Given the description of an element on the screen output the (x, y) to click on. 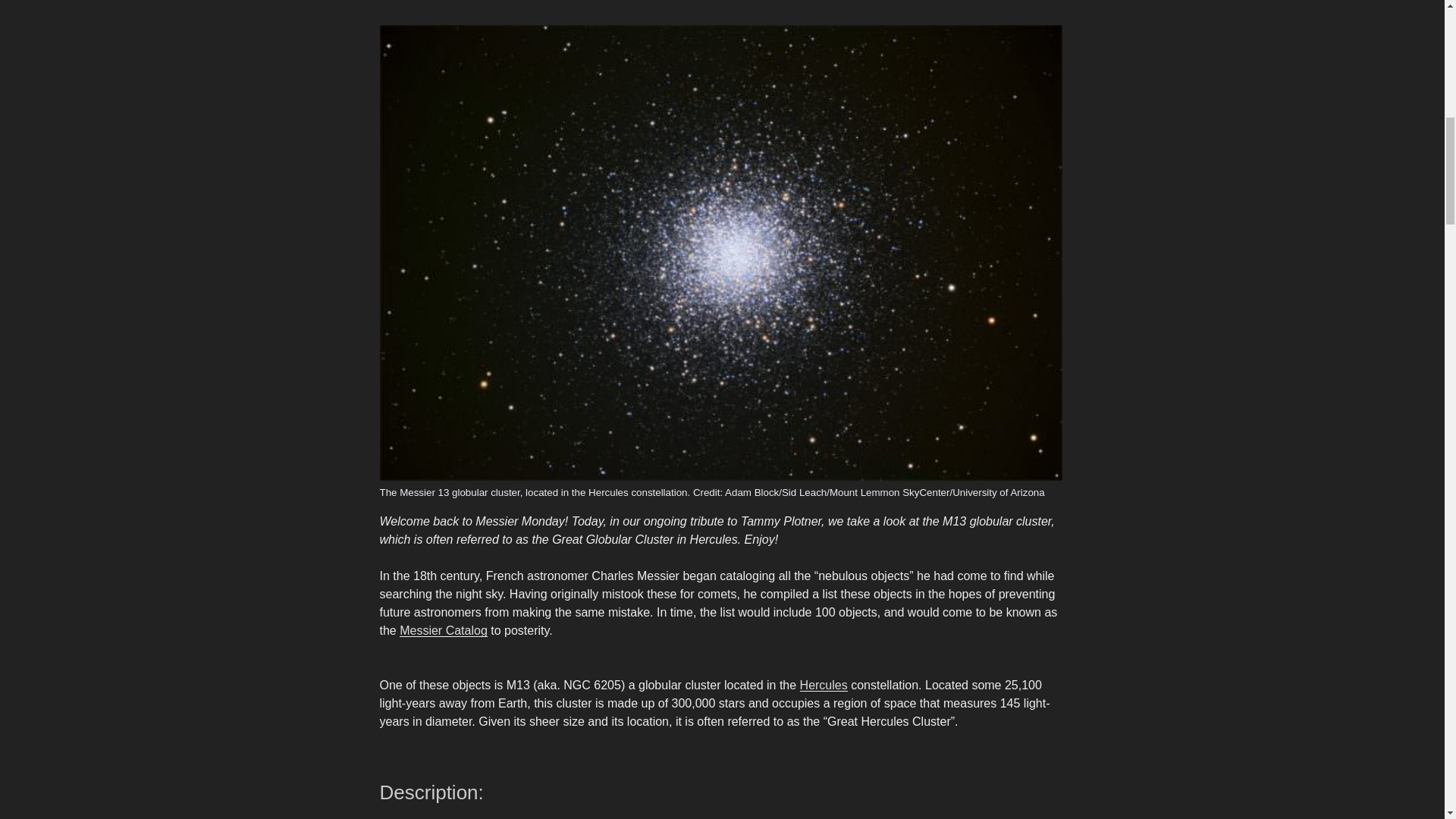
Messier Catalog (442, 630)
Hercules (823, 684)
